Given the description of an element on the screen output the (x, y) to click on. 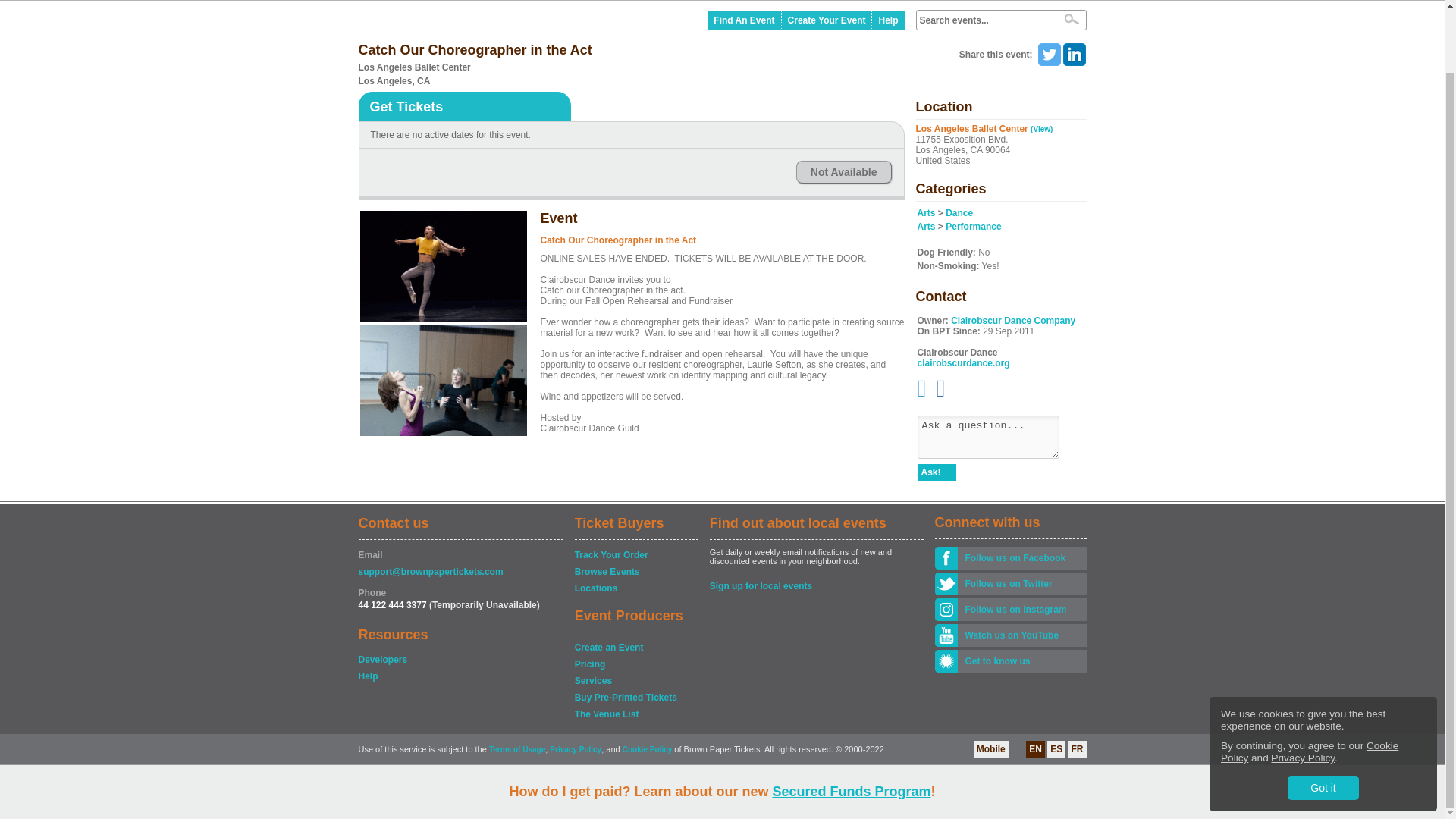
Clairobscur Dance Company (1012, 320)
Got it (1322, 719)
Create an Event (636, 647)
Search Events (1070, 18)
Pricing (636, 663)
clairobscurdance.org (963, 362)
Create Your Event (826, 20)
Secured Funds Program (850, 723)
Dance (958, 213)
Locations (636, 588)
